Given the description of an element on the screen output the (x, y) to click on. 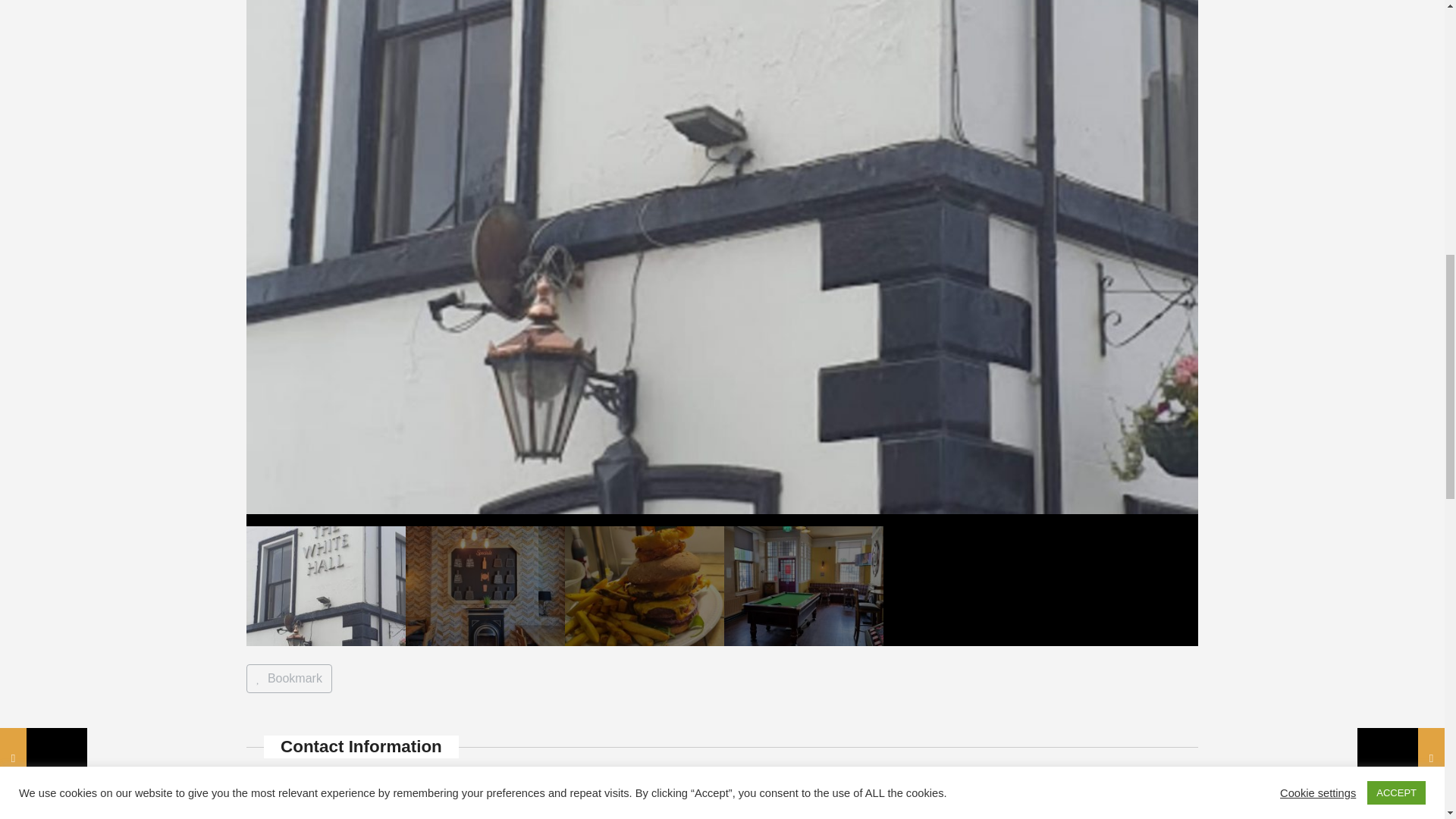
Bookmark (288, 678)
